Given the description of an element on the screen output the (x, y) to click on. 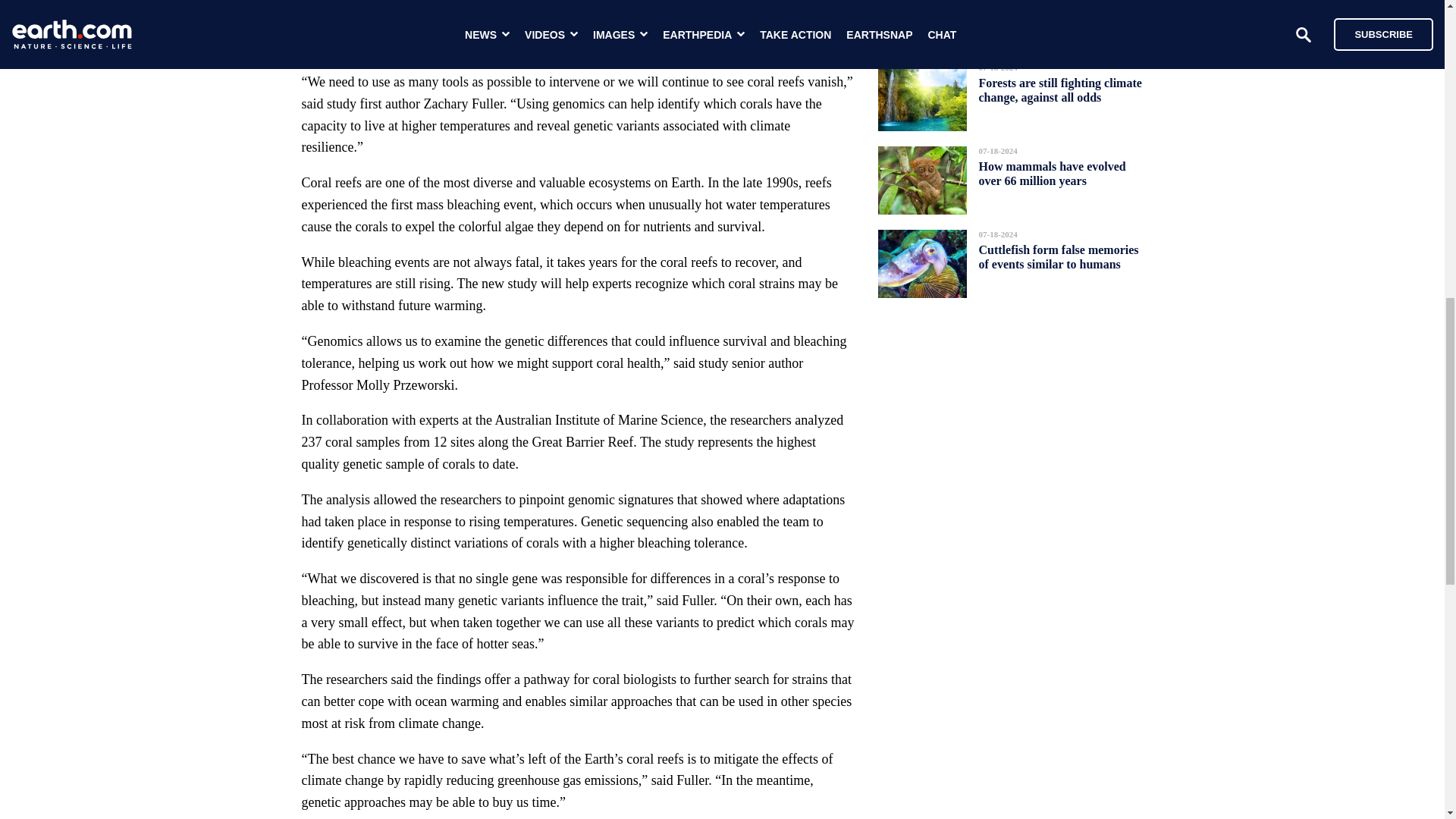
Sea sawdust: Unexpected diet of crown-of-thorns starfish (1054, 13)
How mammals have evolved over 66 million years (1051, 173)
Cuttlefish form false memories of events similar to humans (1058, 256)
Forests are still fighting climate change, against all odds (1059, 89)
